Given the description of an element on the screen output the (x, y) to click on. 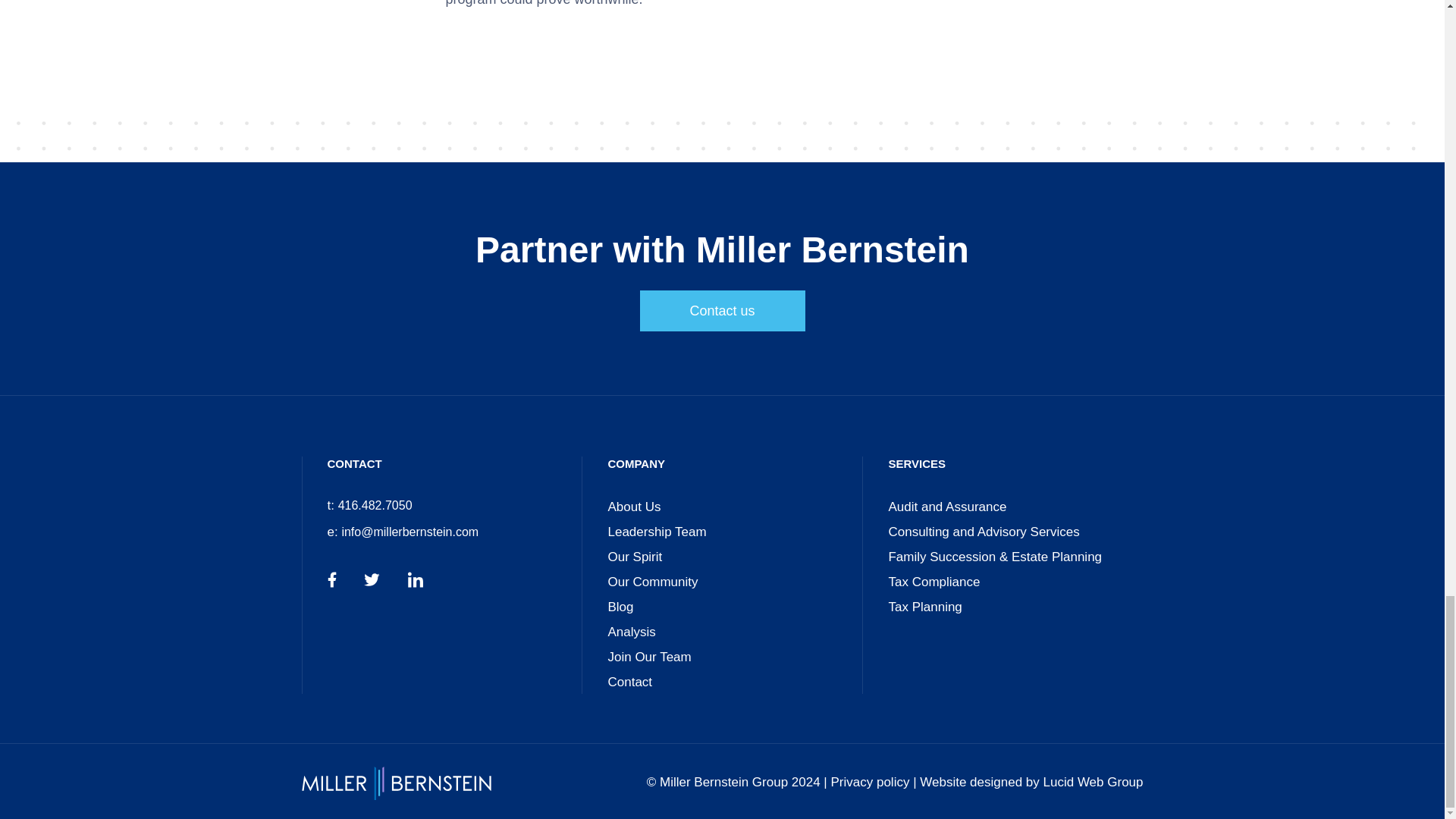
416.482.7050 (374, 504)
Contact us (722, 311)
